Given the description of an element on the screen output the (x, y) to click on. 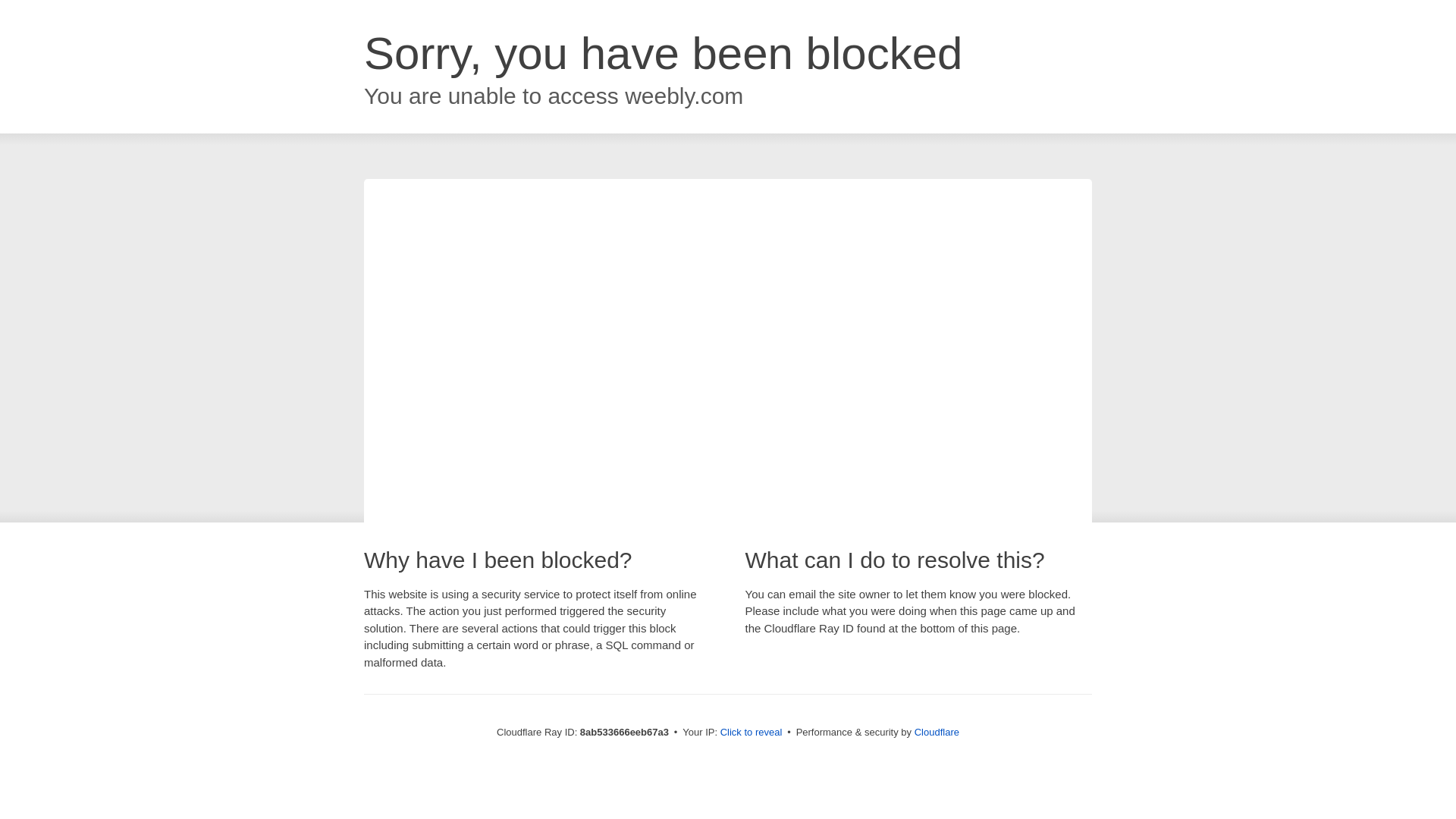
Cloudflare (936, 731)
Click to reveal (751, 732)
